Given the description of an element on the screen output the (x, y) to click on. 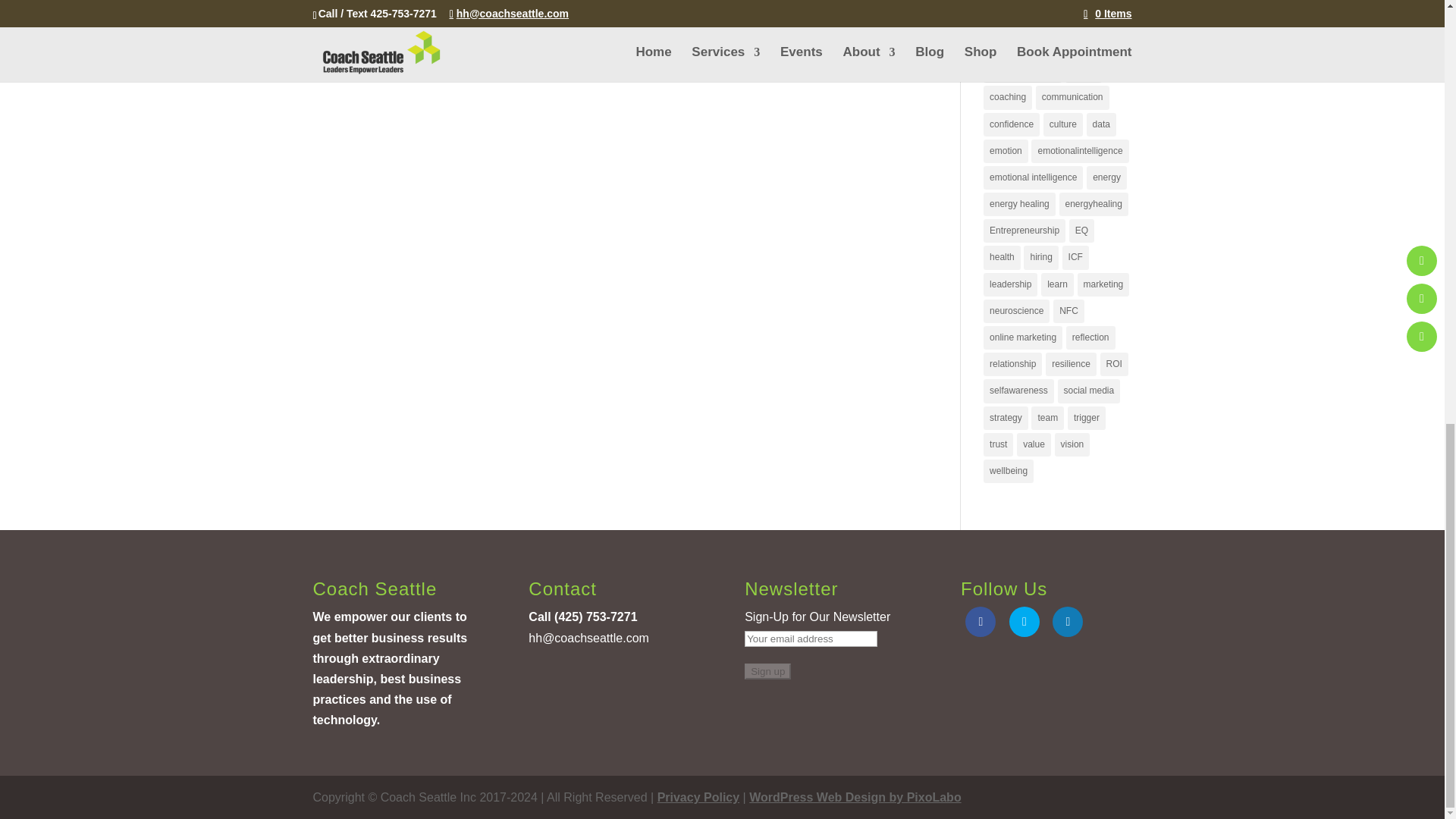
Sign up (767, 671)
